Given the description of an element on the screen output the (x, y) to click on. 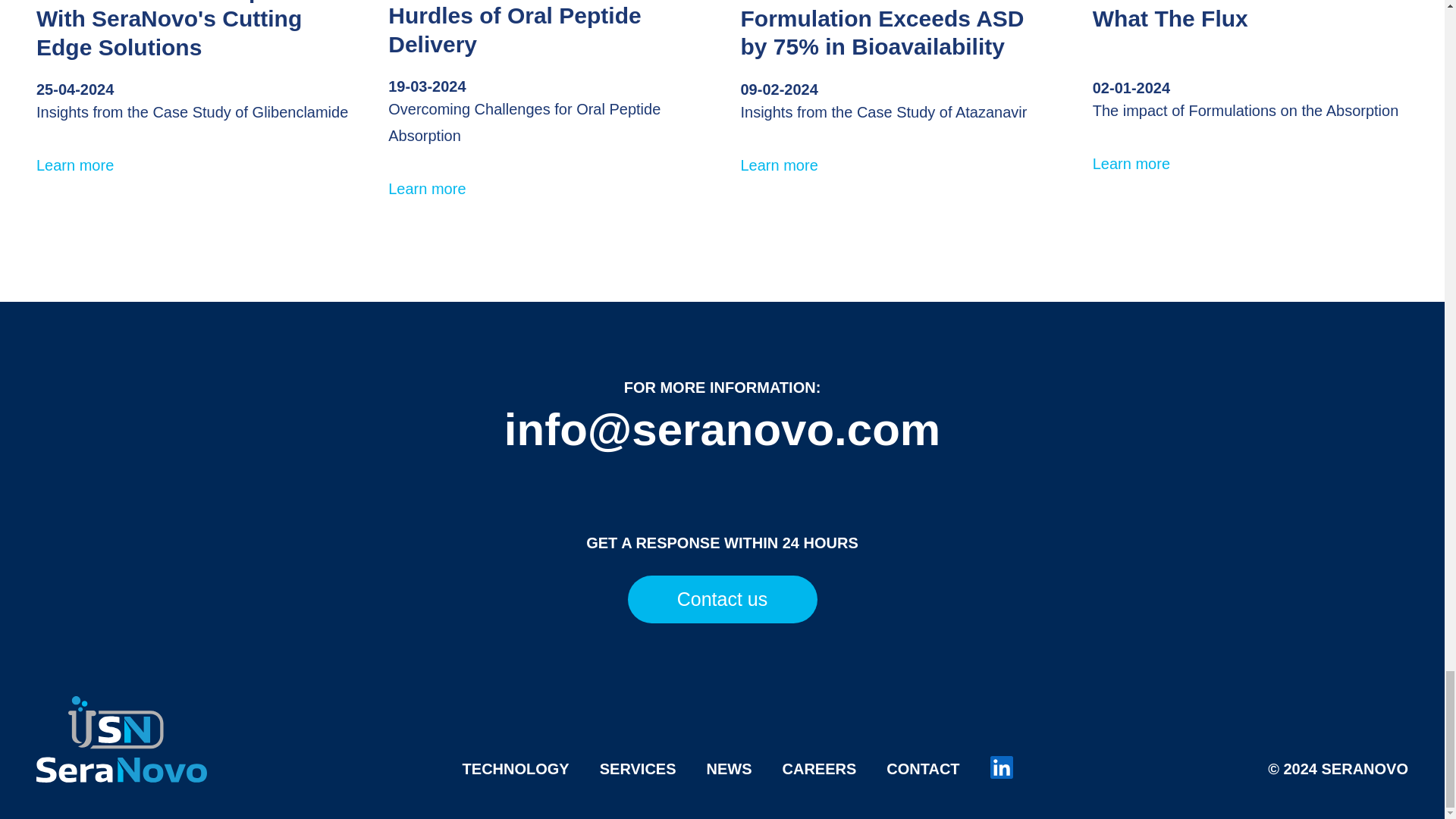
19-03-2024 (426, 86)
25-04-2024 (74, 89)
Insights from the Case Study of Glibenclamide (191, 112)
09-02-2024 (777, 89)
Overcoming Challenges for Oral Peptide Absorption (524, 122)
Learn more (74, 165)
Blog Post 3: Overcoming the Hurdles of Oral Peptide Delivery (544, 28)
Learn more (426, 188)
Insights from the Case Study of Atazanavir (882, 112)
